Given the description of an element on the screen output the (x, y) to click on. 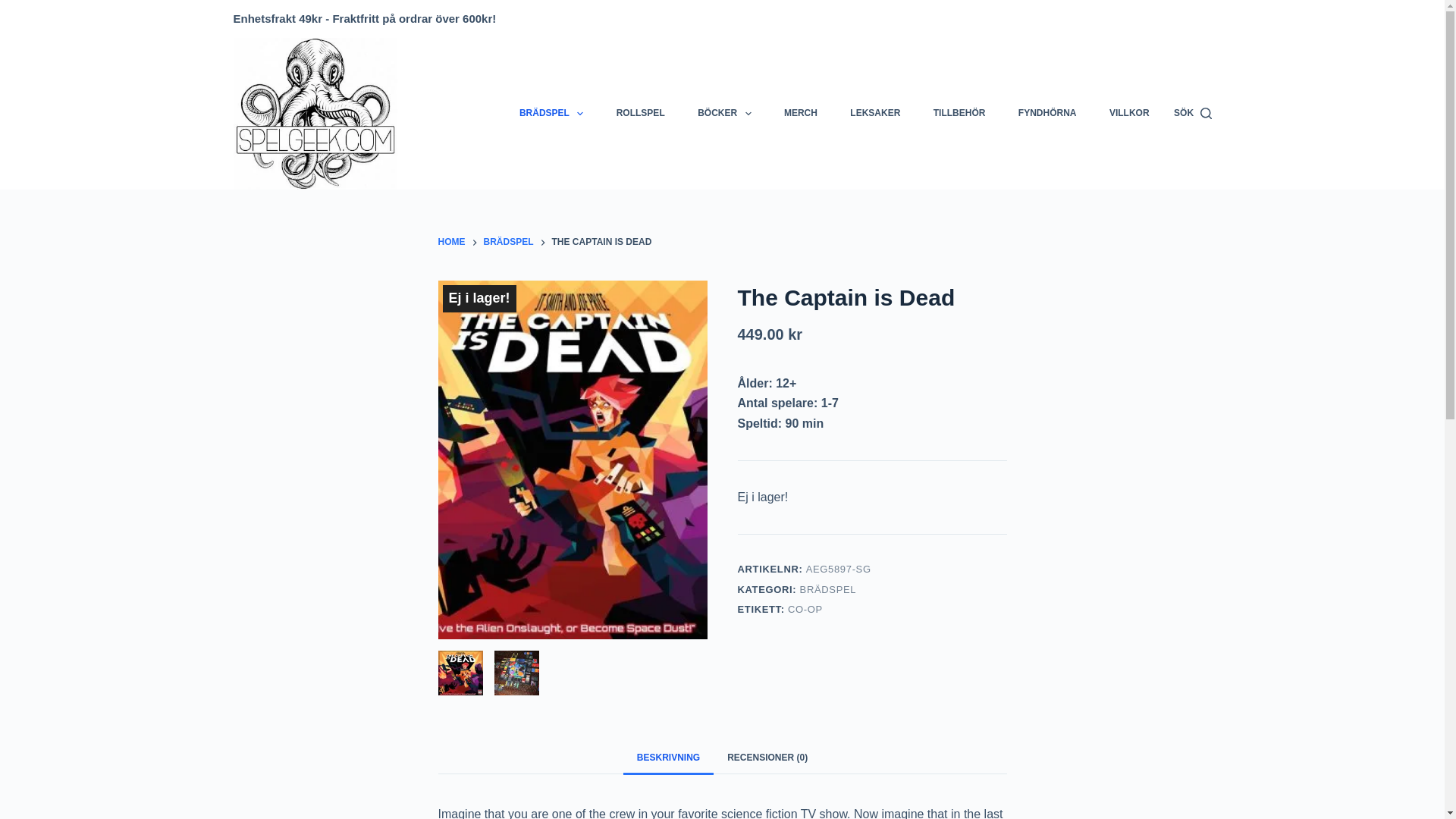
MERCH (800, 113)
VILLKOR (1128, 113)
captain (572, 459)
HOME (451, 242)
Skip to content (15, 7)
captain is dead (516, 672)
CO-OP (804, 609)
BESKRIVNING (668, 757)
ROLLSPEL (640, 113)
LEKSAKER (875, 113)
captain (460, 672)
